Given the description of an element on the screen output the (x, y) to click on. 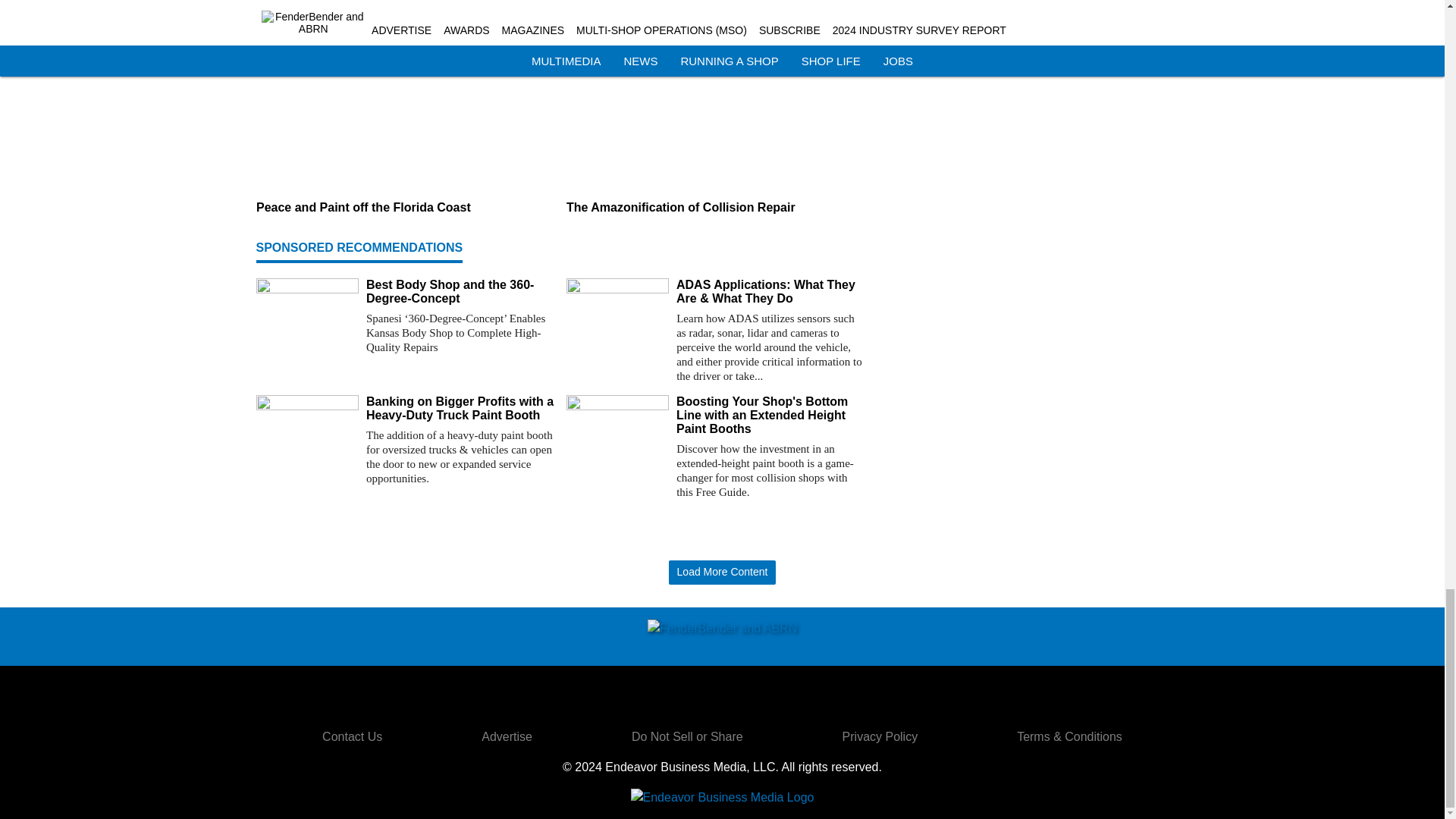
Peace and Paint off the Florida Coast (405, 208)
The Amazonification of Collision Repair (715, 208)
Best Body Shop and the 360-Degree-Concept (459, 291)
